Given the description of an element on the screen output the (x, y) to click on. 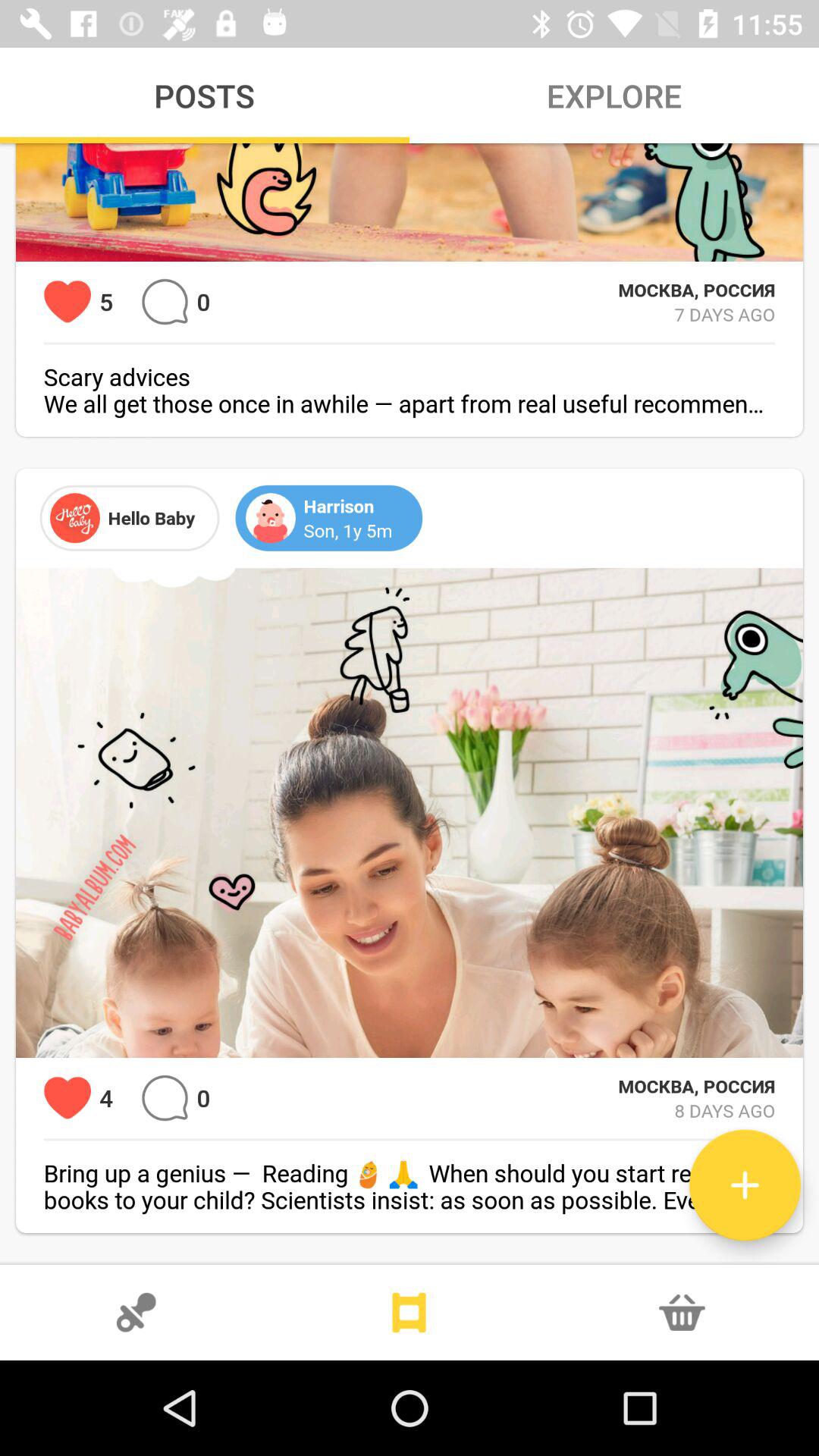
choose icon below 8 days ago icon (744, 1185)
